Given the description of an element on the screen output the (x, y) to click on. 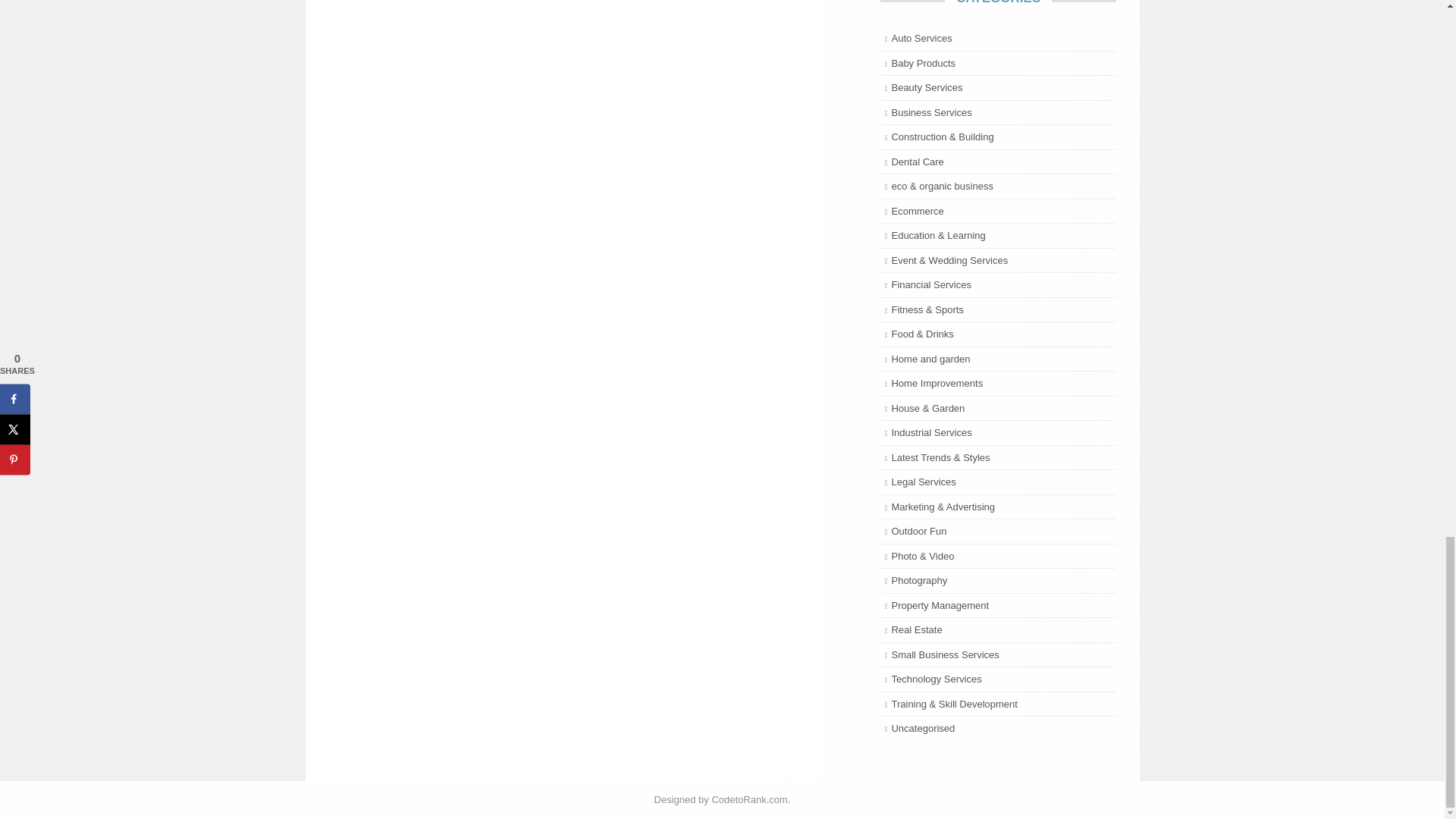
Ecommerce (917, 210)
